Given the description of an element on the screen output the (x, y) to click on. 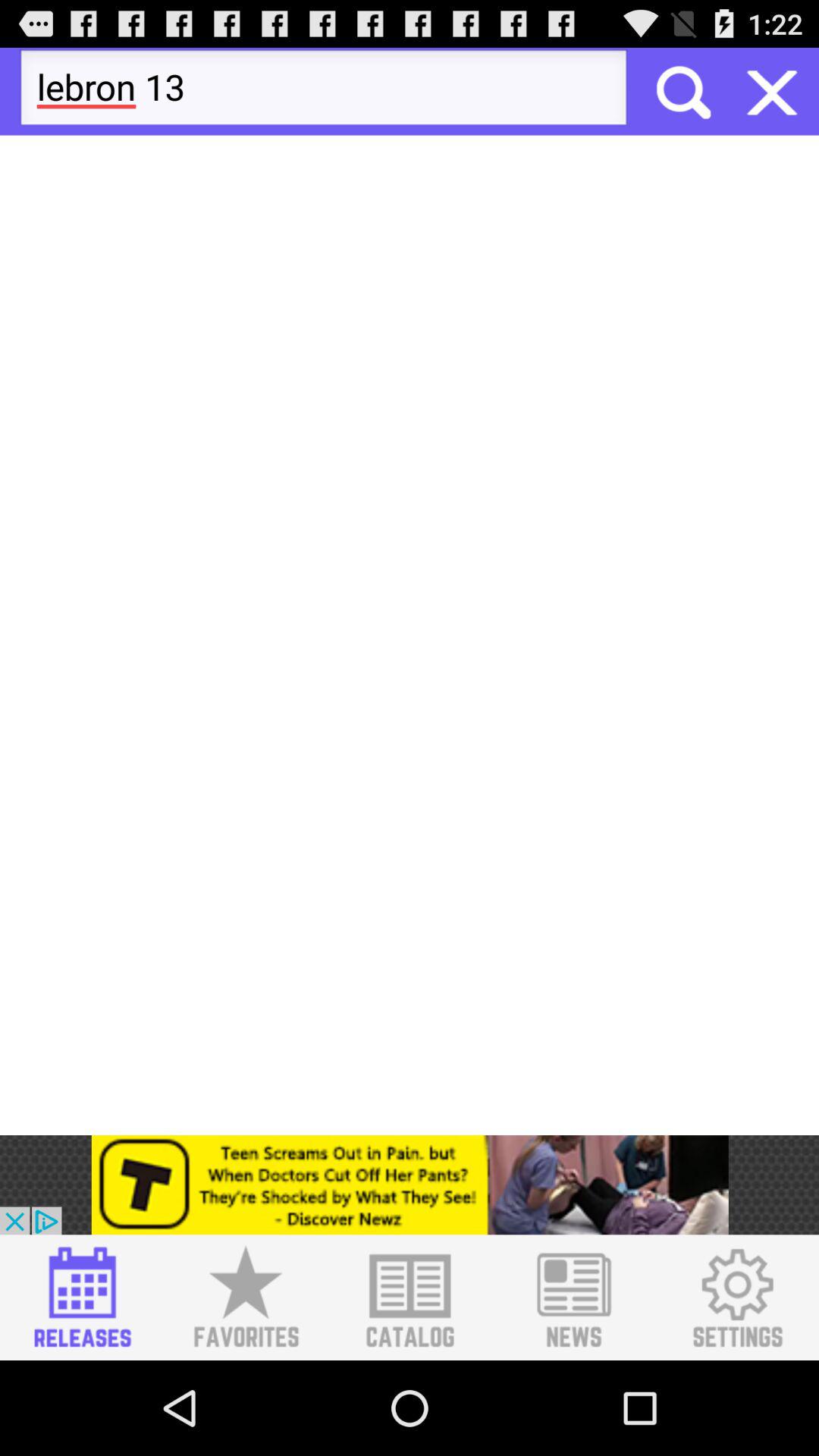
search option (682, 91)
